Given the description of an element on the screen output the (x, y) to click on. 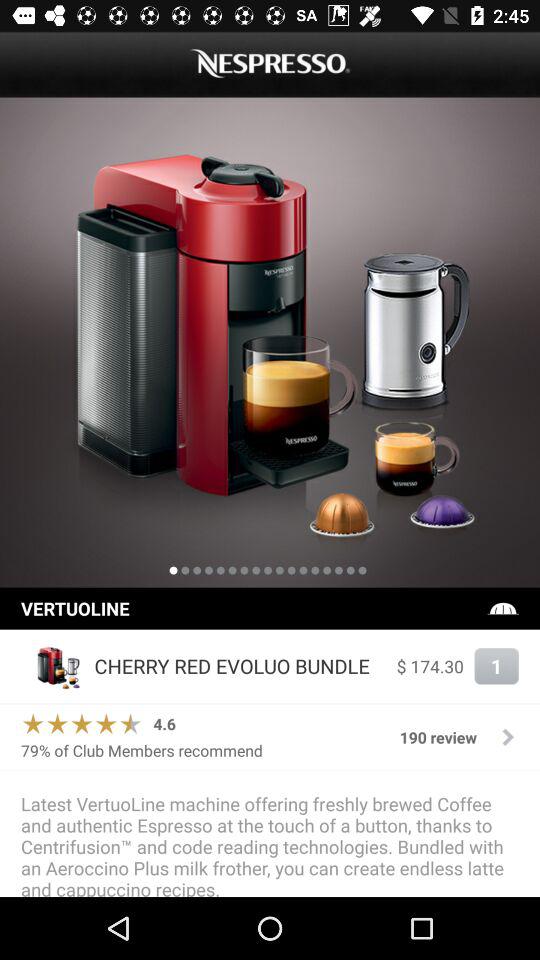
tap the icon to the left of 190 review item (141, 750)
